Given the description of an element on the screen output the (x, y) to click on. 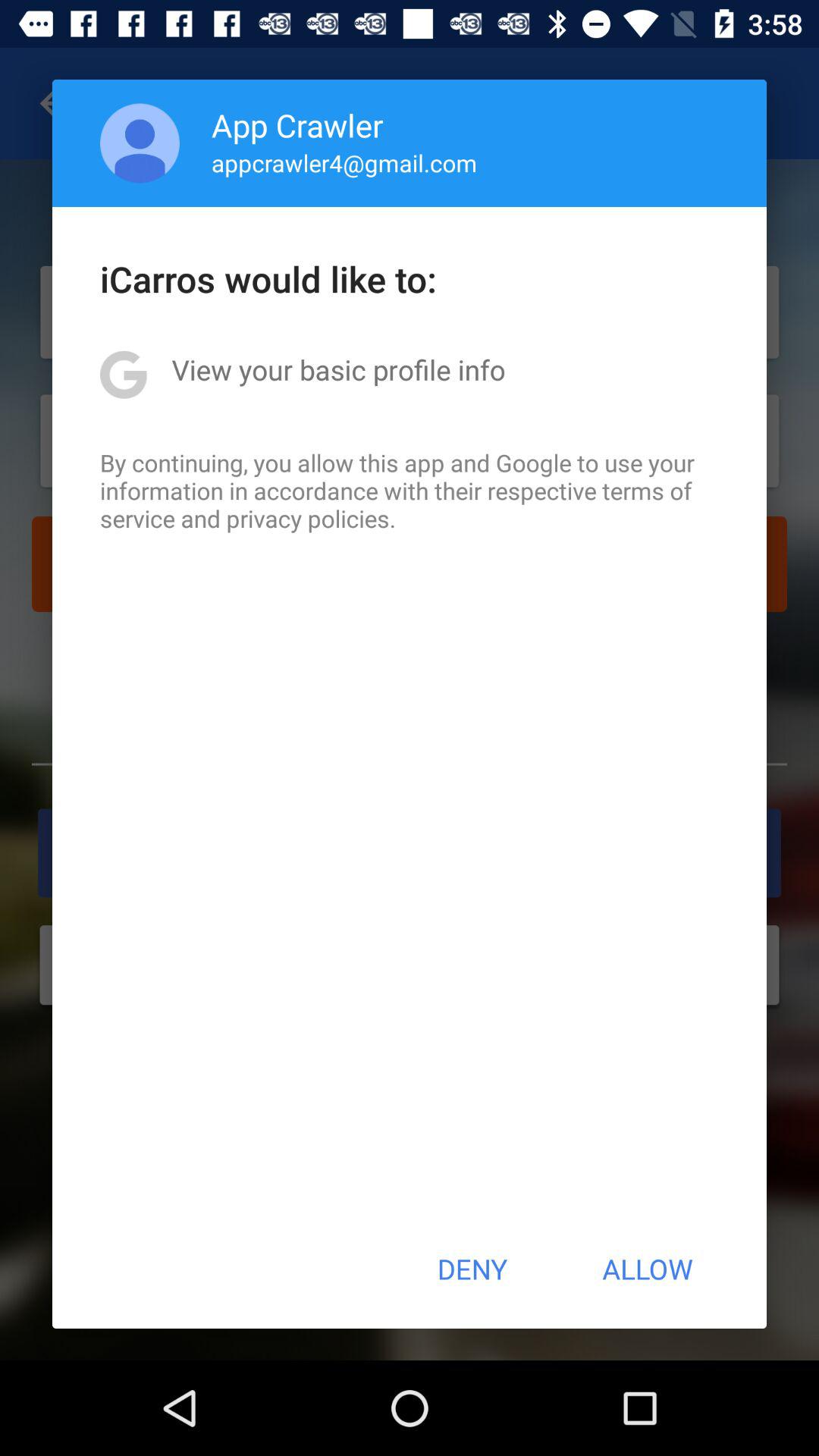
launch the deny icon (471, 1268)
